Given the description of an element on the screen output the (x, y) to click on. 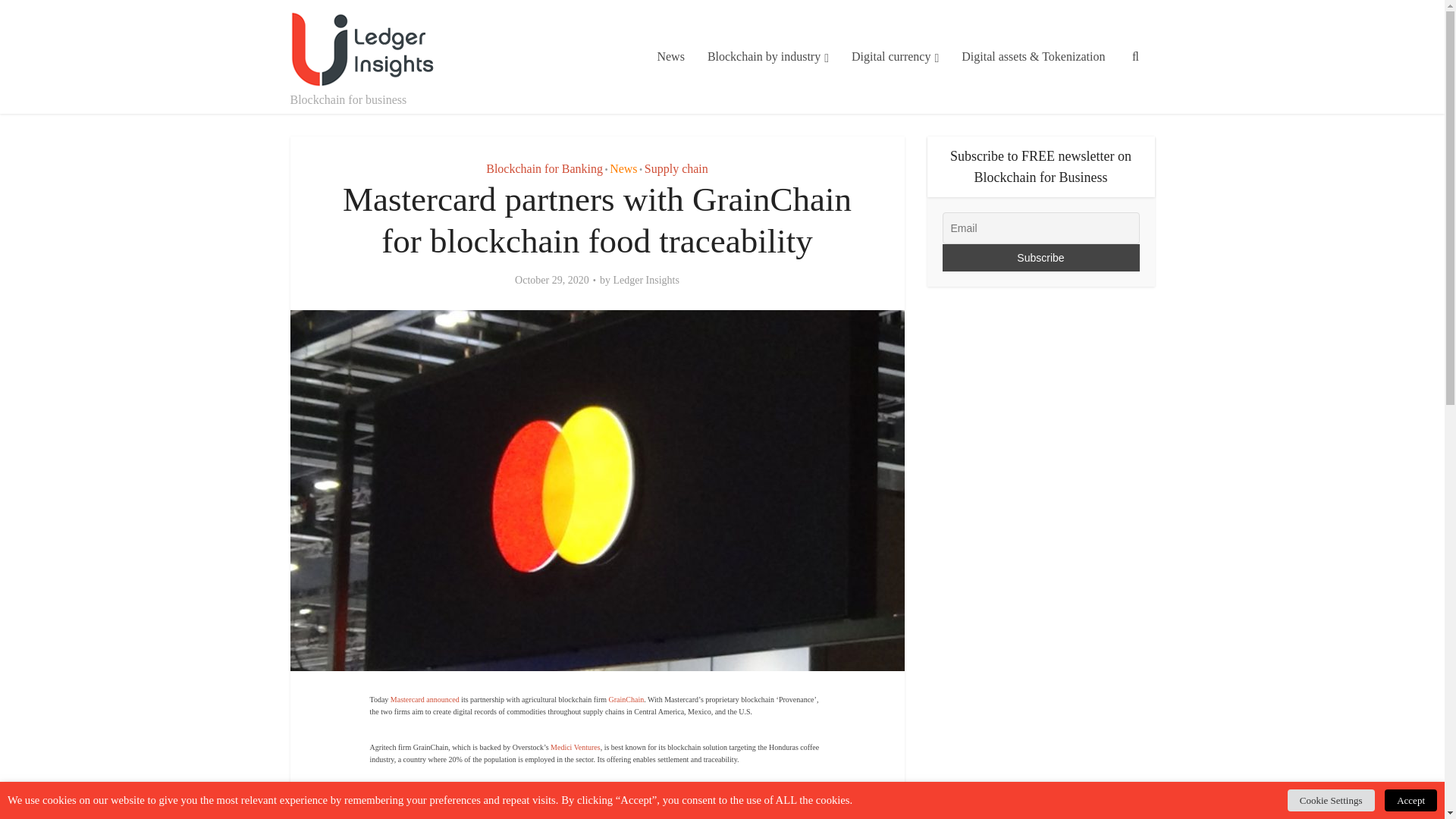
Subscribe (1040, 257)
Digital currency (895, 56)
Blockchain by industry (767, 56)
